Given the description of an element on the screen output the (x, y) to click on. 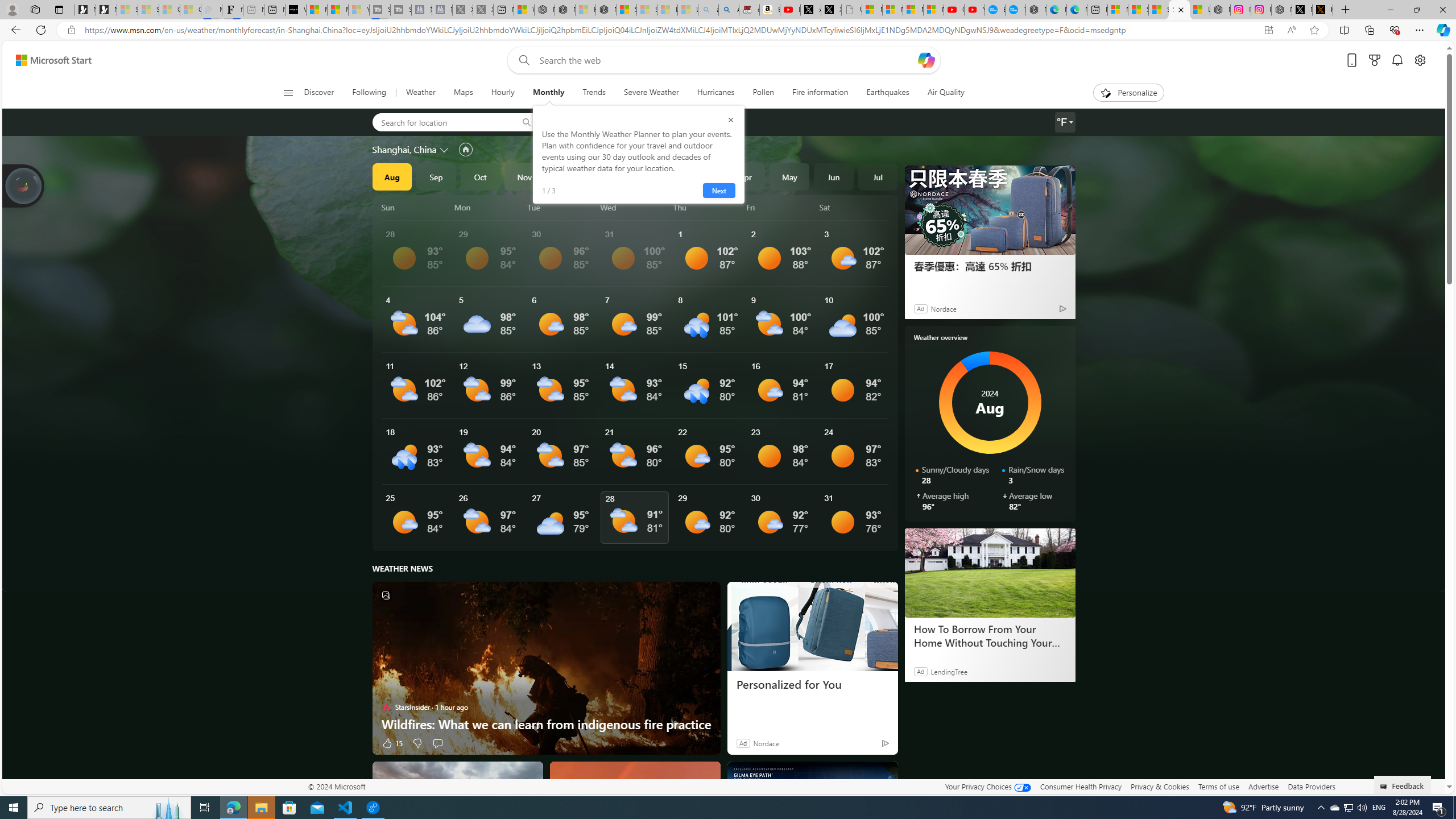
Dec (568, 176)
Air Quality (940, 92)
Shanghai, China hourly forecast | Microsoft Weather (1158, 9)
Web search (520, 60)
Maps (462, 92)
